Given the description of an element on the screen output the (x, y) to click on. 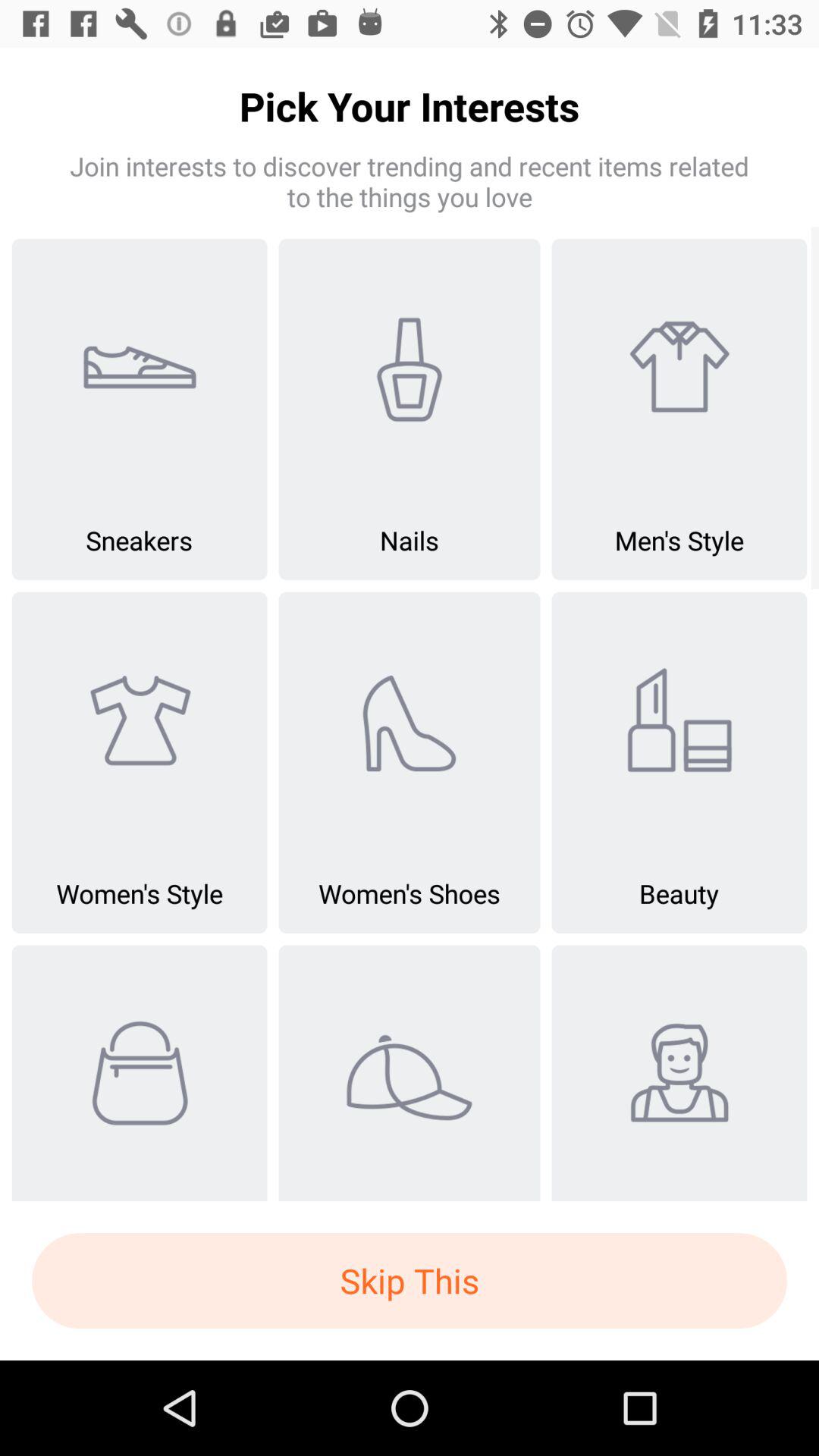
flip to the skip this icon (409, 1280)
